Given the description of an element on the screen output the (x, y) to click on. 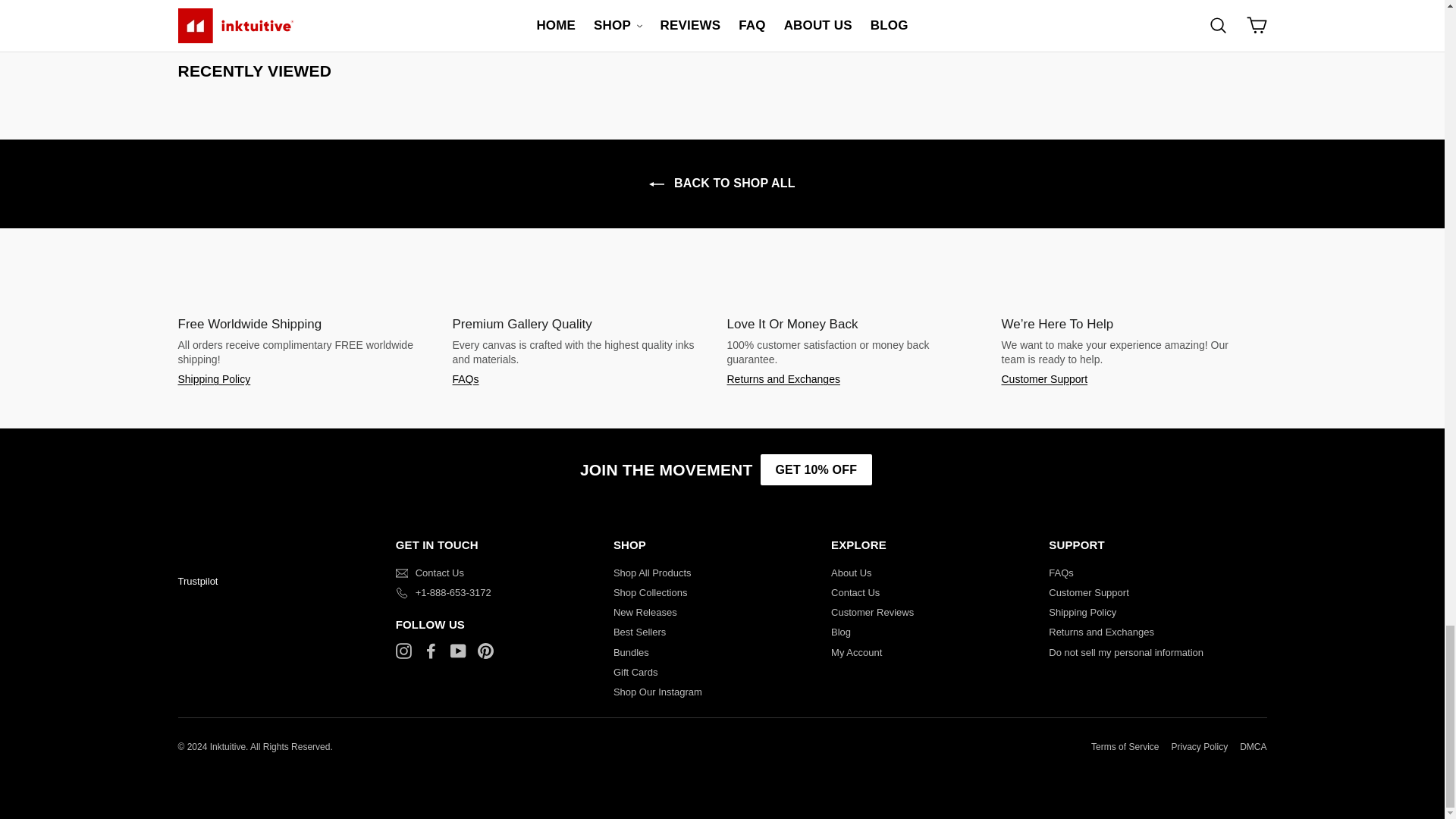
Inktuitive on Facebook (431, 650)
Inktuitive on YouTube (457, 650)
Inktuitive on Instagram (404, 650)
Inktuitive on Pinterest (485, 650)
